Given the description of an element on the screen output the (x, y) to click on. 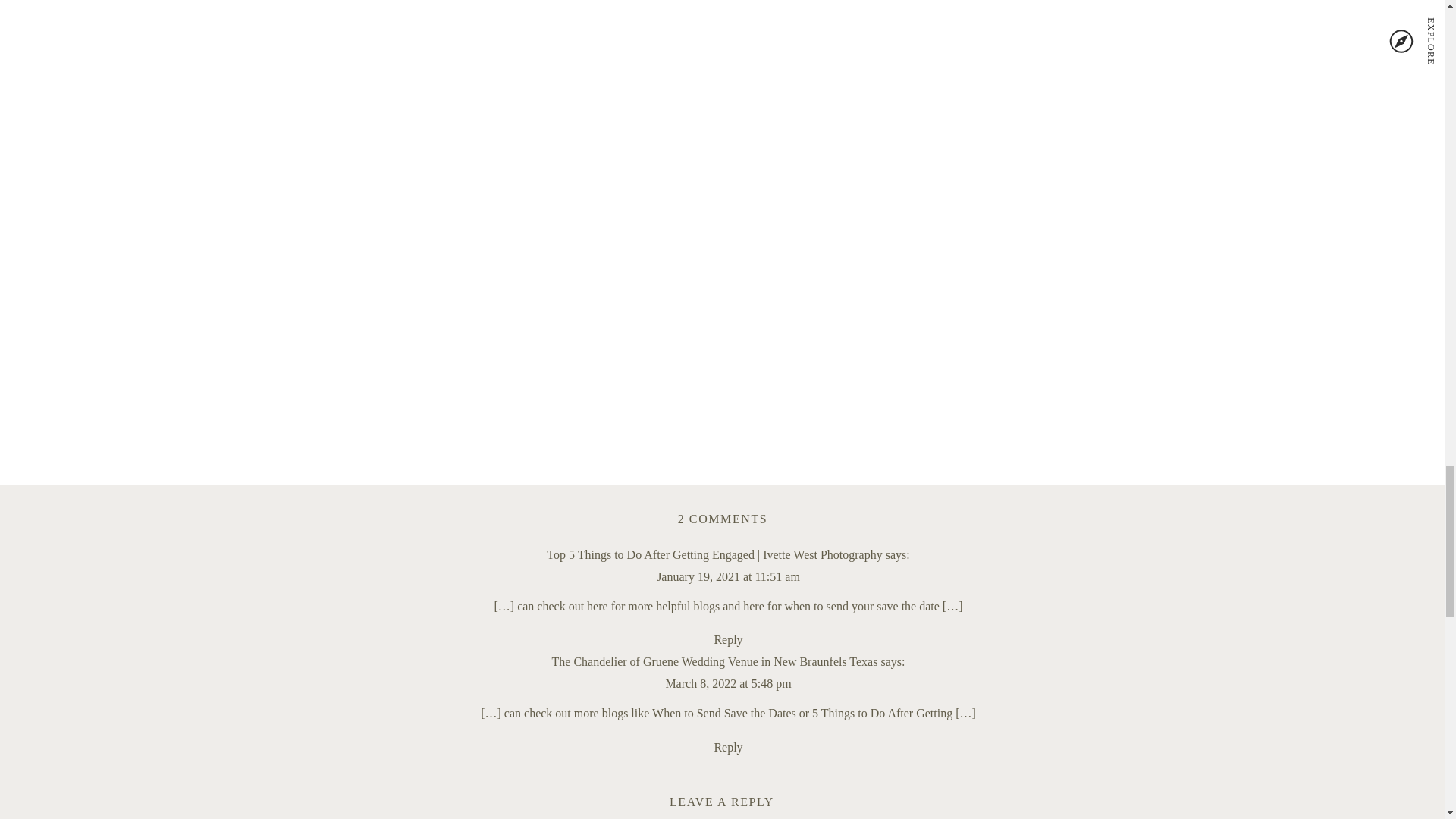
Reply (727, 639)
Reply (727, 747)
March 8, 2022 at 5:48 pm (723, 518)
January 19, 2021 at 11:51 am (727, 683)
